Given the description of an element on the screen output the (x, y) to click on. 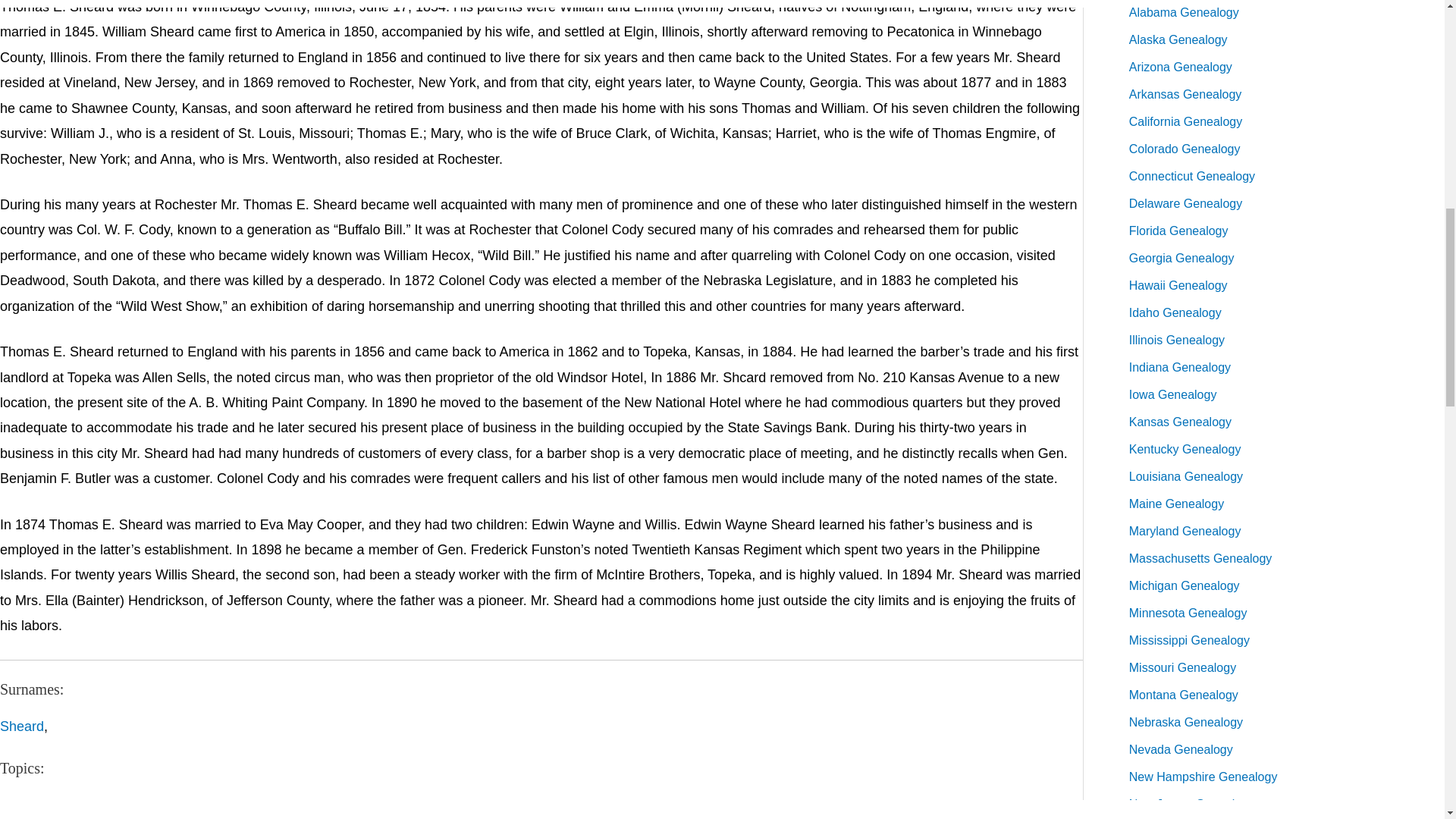
Alabama Genealogy (1184, 11)
Alabama Genealogy (1184, 11)
Alaska Genealogy (1178, 39)
Biography (30, 805)
Sheard (21, 726)
Arizona Genealogy (1180, 66)
